Given the description of an element on the screen output the (x, y) to click on. 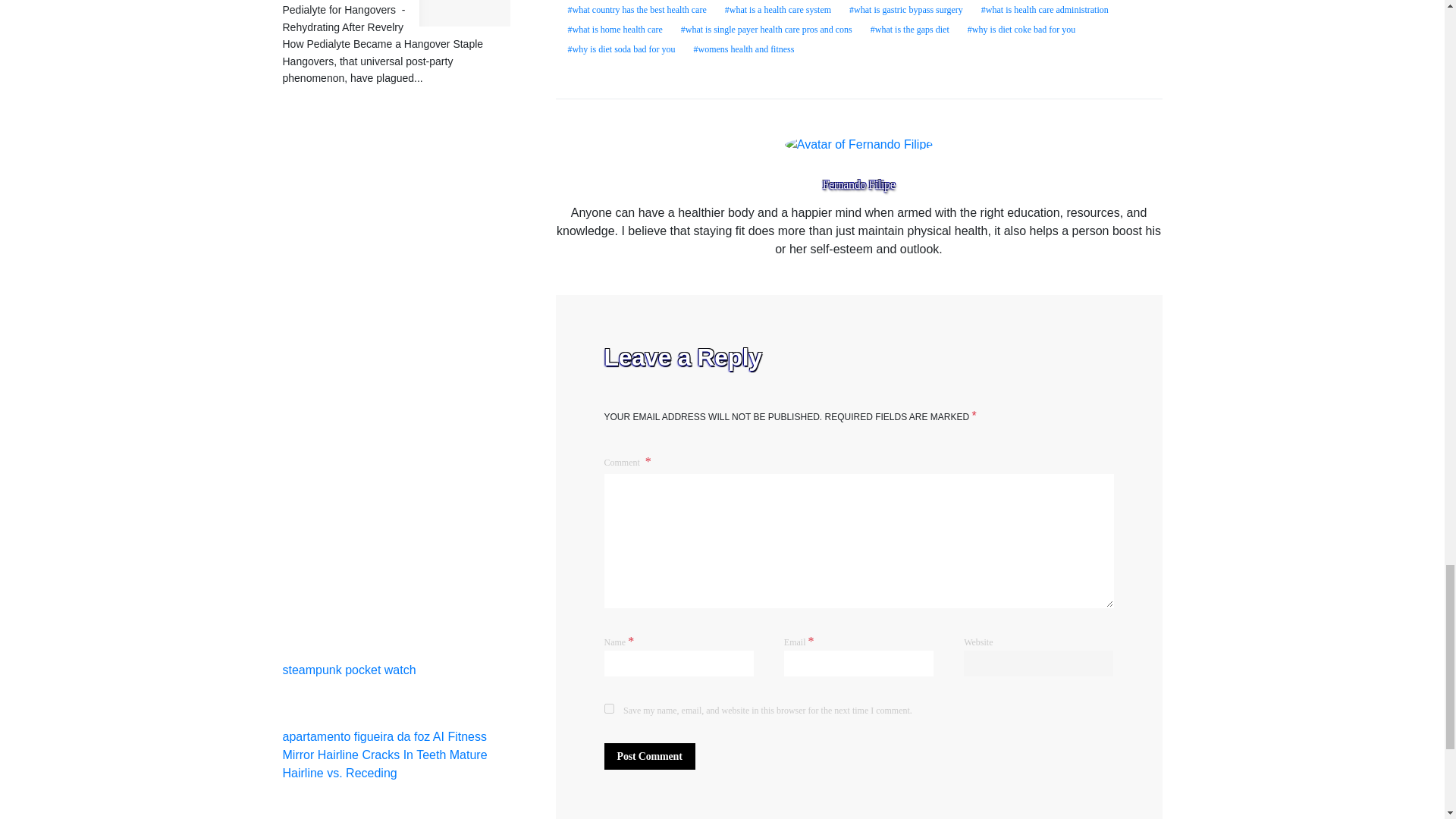
Post Comment (649, 755)
yes (608, 708)
